Given the description of an element on the screen output the (x, y) to click on. 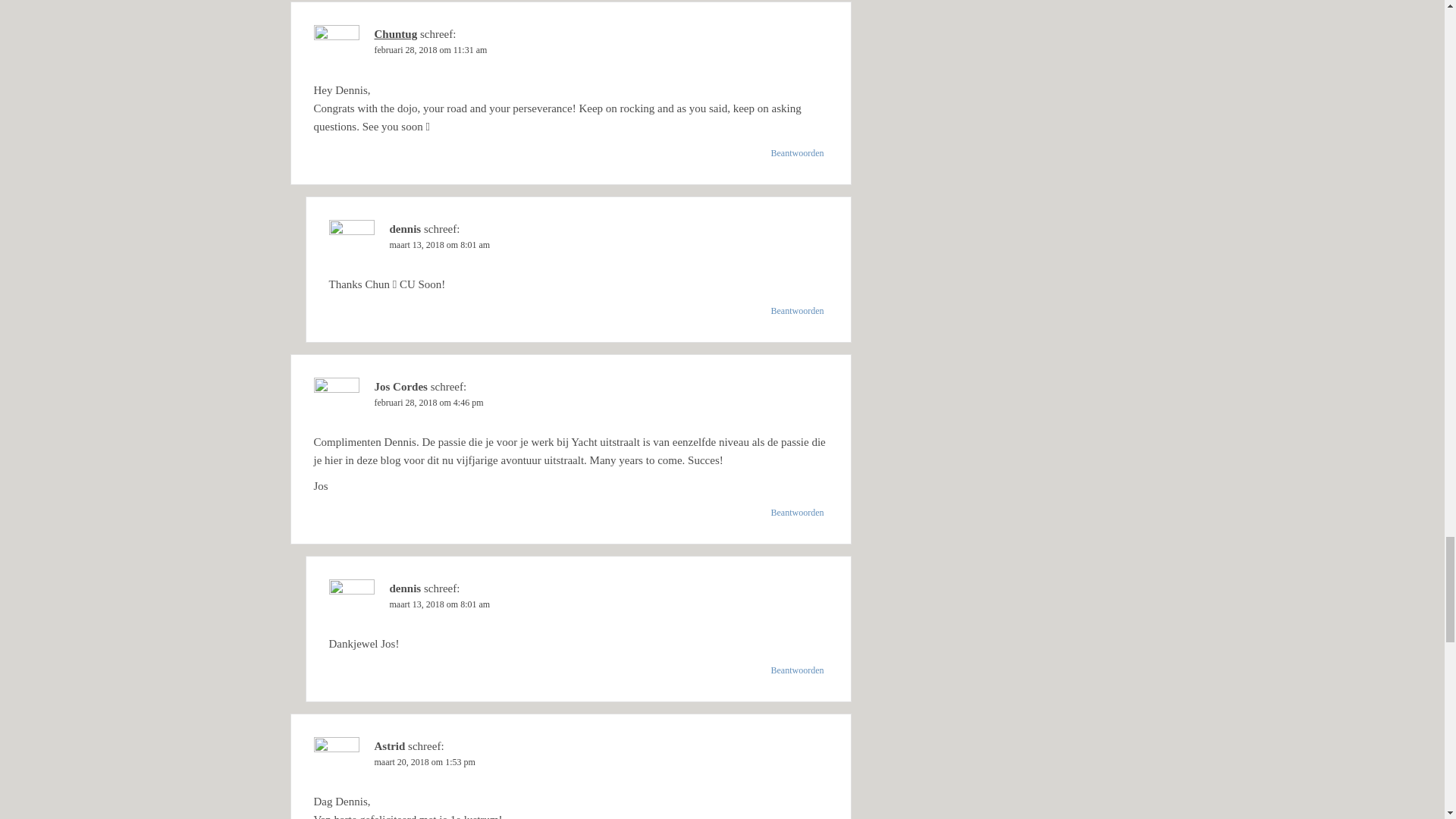
Beantwoorden (797, 311)
maart 13, 2018 om 8:01 am (440, 244)
maart 20, 2018 om 1:53 pm (425, 761)
februari 28, 2018 om 4:46 pm (428, 402)
Chuntug (395, 33)
maart 13, 2018 om 8:01 am (440, 603)
Beantwoorden (797, 669)
Beantwoorden (797, 512)
Beantwoorden (797, 153)
februari 28, 2018 om 11:31 am (430, 50)
